Given the description of an element on the screen output the (x, y) to click on. 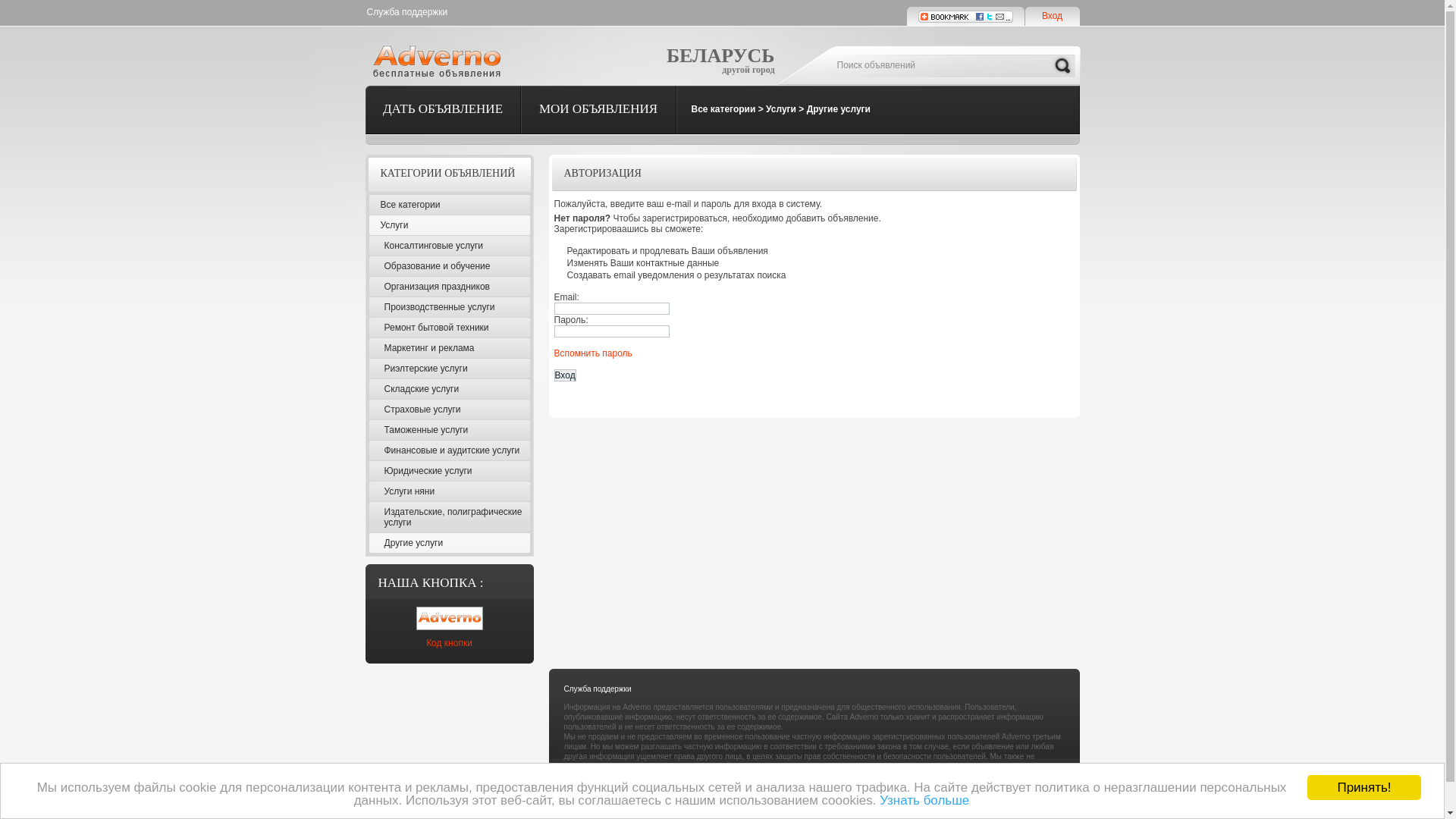
Search Element type: text (1062, 65)
